Given the description of an element on the screen output the (x, y) to click on. 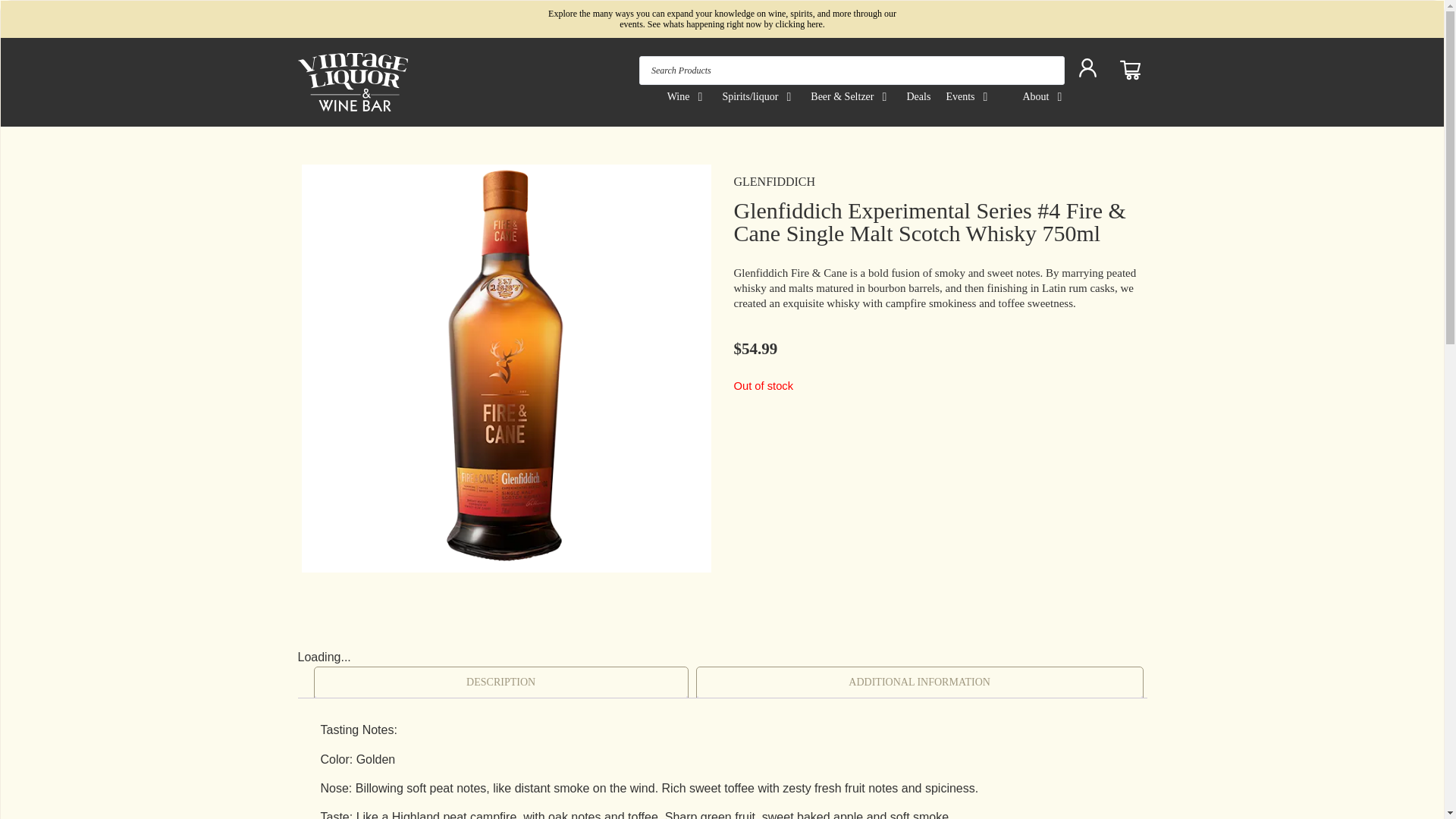
View your shopping cart (1131, 69)
Wine (678, 96)
